Given the description of an element on the screen output the (x, y) to click on. 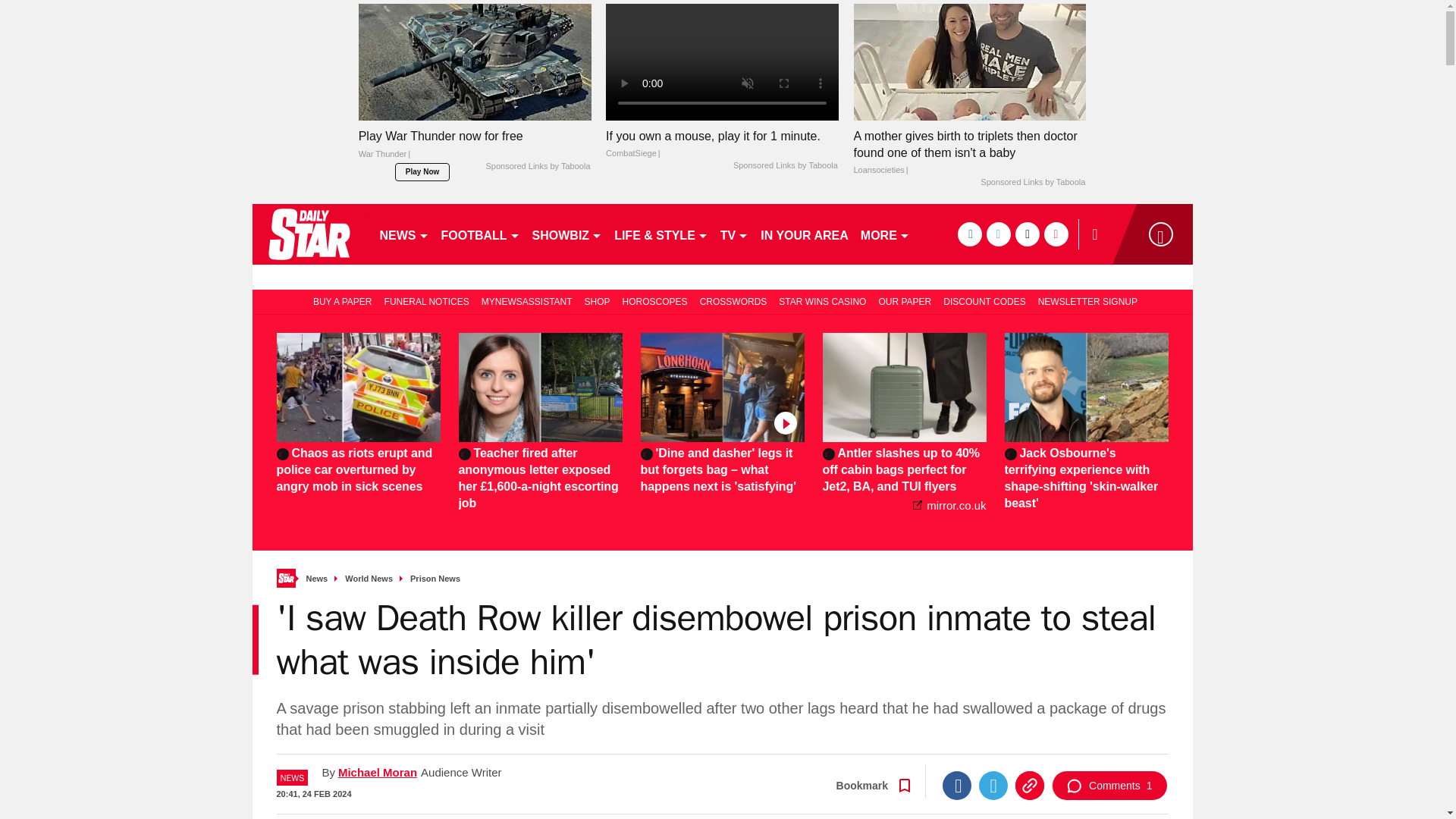
facebook (968, 233)
Sponsored Links by Taboola (536, 166)
Play Now (421, 171)
Sponsored Links by Taboola (785, 165)
FOOTBALL (480, 233)
NEWS (402, 233)
tiktok (1026, 233)
Sponsored Links by Taboola (1031, 182)
dailystar (308, 233)
Facebook (956, 785)
If you own a mouse, play it for 1 minute. (721, 144)
Play War Thunder now for free (474, 148)
If you own a mouse, play it for 1 minute. (721, 61)
